Given the description of an element on the screen output the (x, y) to click on. 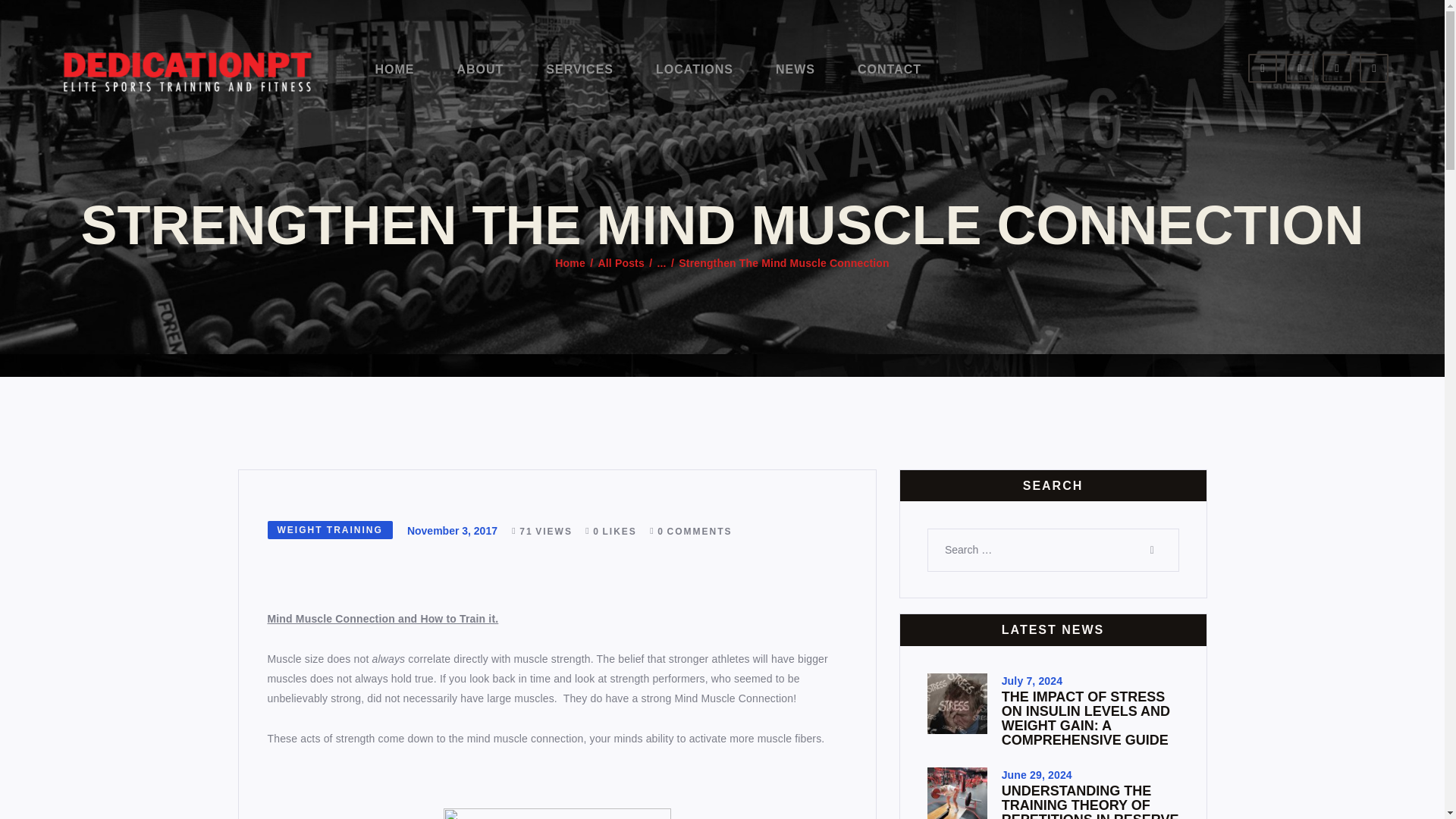
Like (615, 531)
All Posts (619, 263)
NEWS (794, 69)
HOME (394, 69)
ABOUT (479, 69)
Home (569, 263)
LOCATIONS (694, 69)
SERVICES (579, 69)
CONTACT (888, 69)
